Given the description of an element on the screen output the (x, y) to click on. 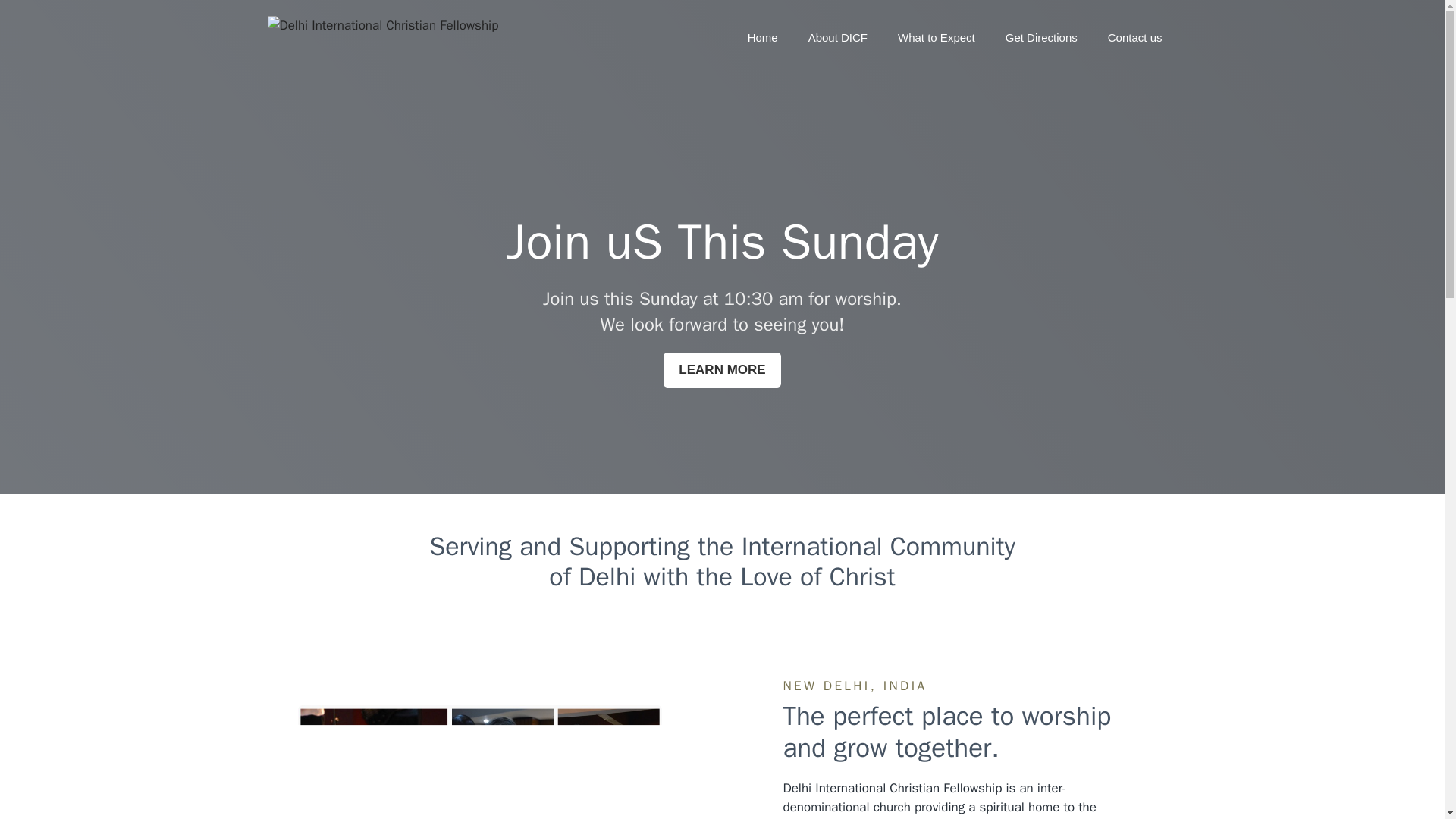
What to Expect (936, 37)
Contact us (1135, 37)
Home (762, 37)
Get Directions (1041, 37)
About DICF (837, 37)
LEARN MORE (721, 369)
